Given the description of an element on the screen output the (x, y) to click on. 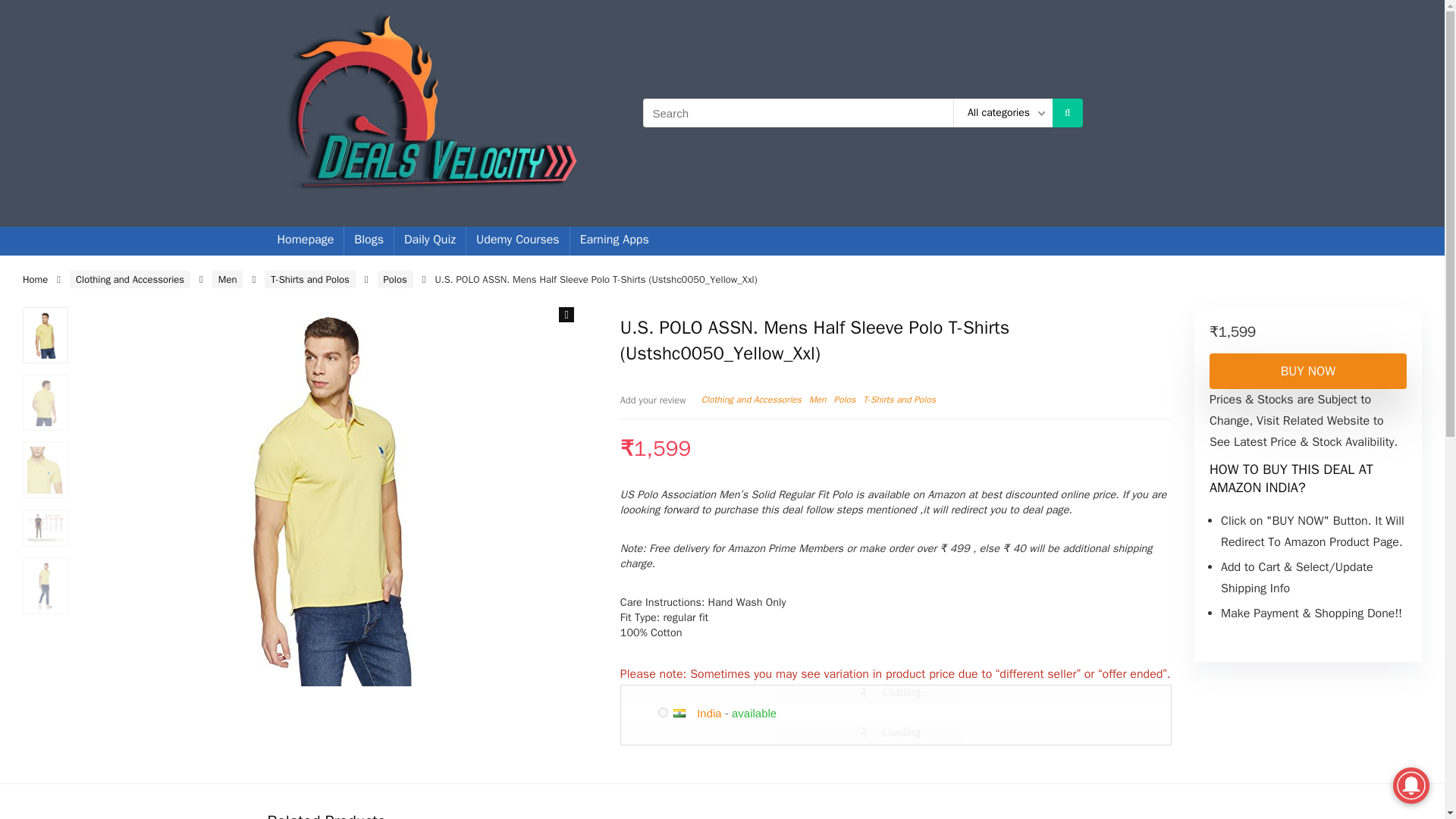
Clothing and Accessories (751, 399)
Clothing and Accessories (129, 278)
Men (818, 399)
on (663, 711)
View all posts in Clothing and Accessories (751, 399)
Polos (395, 278)
View all posts in Polos (845, 399)
India (709, 712)
Blogs (368, 240)
T-Shirts and Polos (899, 399)
